Given the description of an element on the screen output the (x, y) to click on. 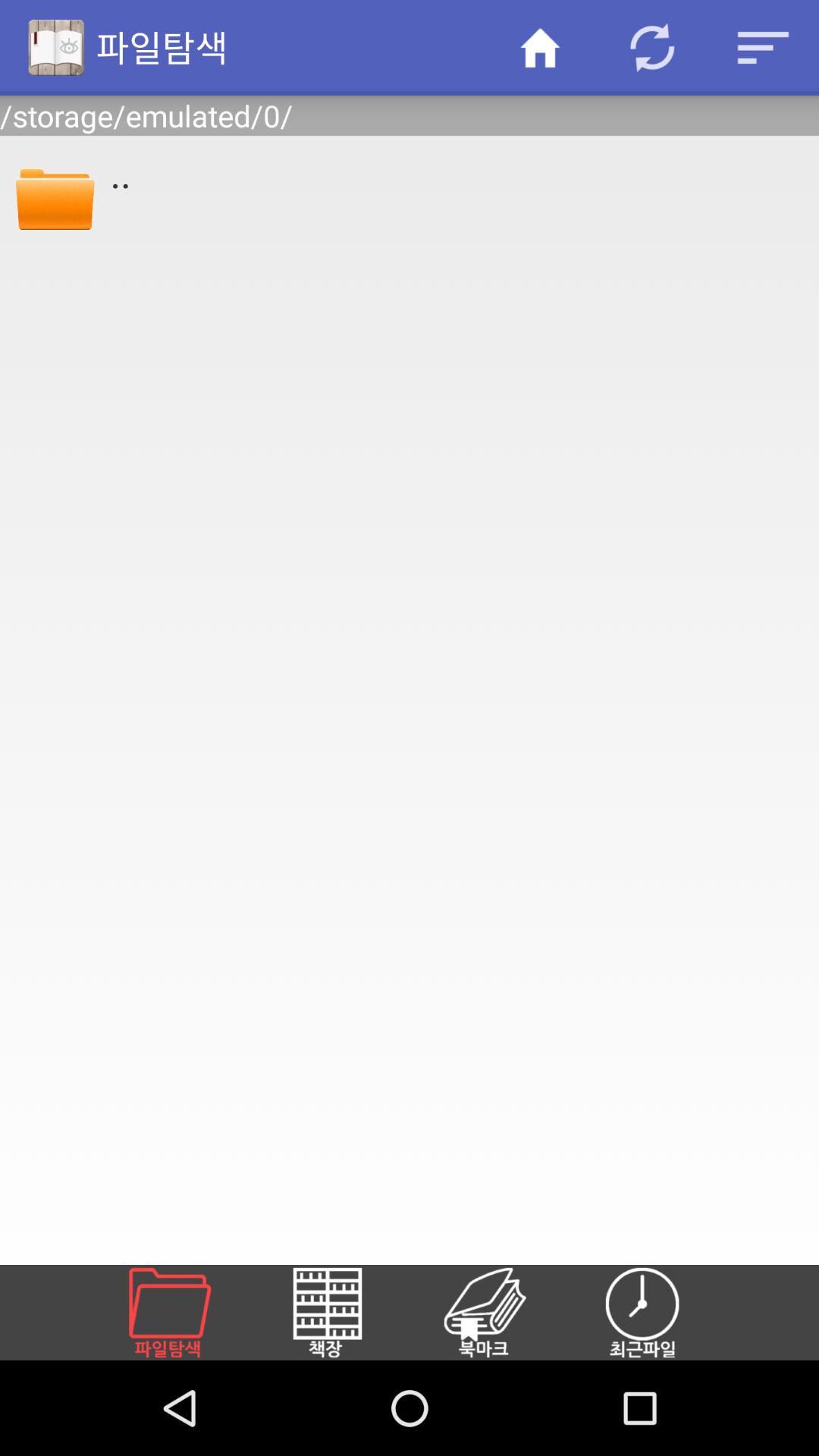
files (187, 1312)
